Given the description of an element on the screen output the (x, y) to click on. 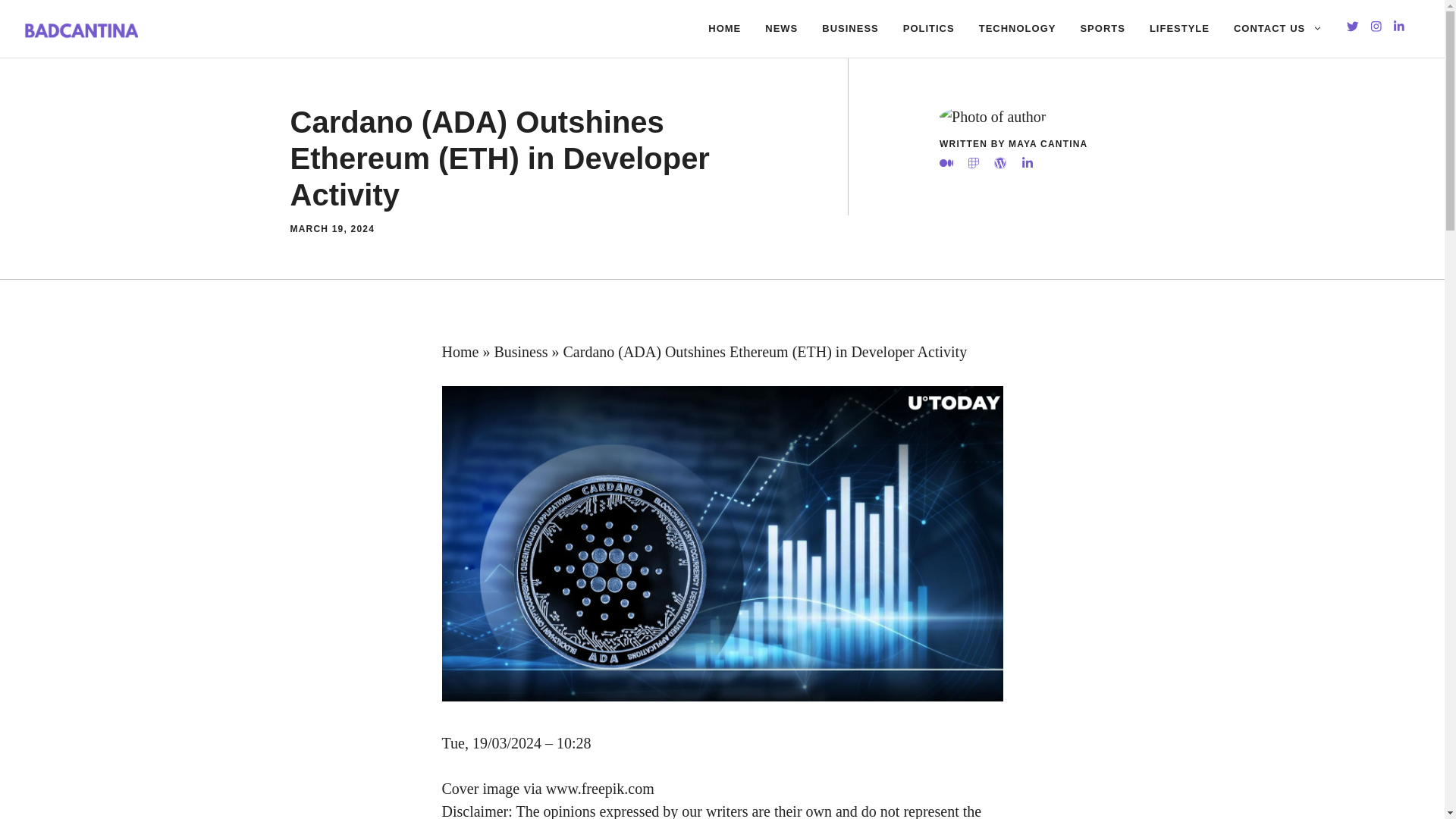
POLITICS (928, 28)
Home (460, 351)
TECHNOLOGY (1017, 28)
HOME (723, 28)
NEWS (780, 28)
CONTACT US (1278, 28)
LIFESTYLE (1179, 28)
Business (520, 351)
BUSINESS (849, 28)
SPORTS (1102, 28)
